Given the description of an element on the screen output the (x, y) to click on. 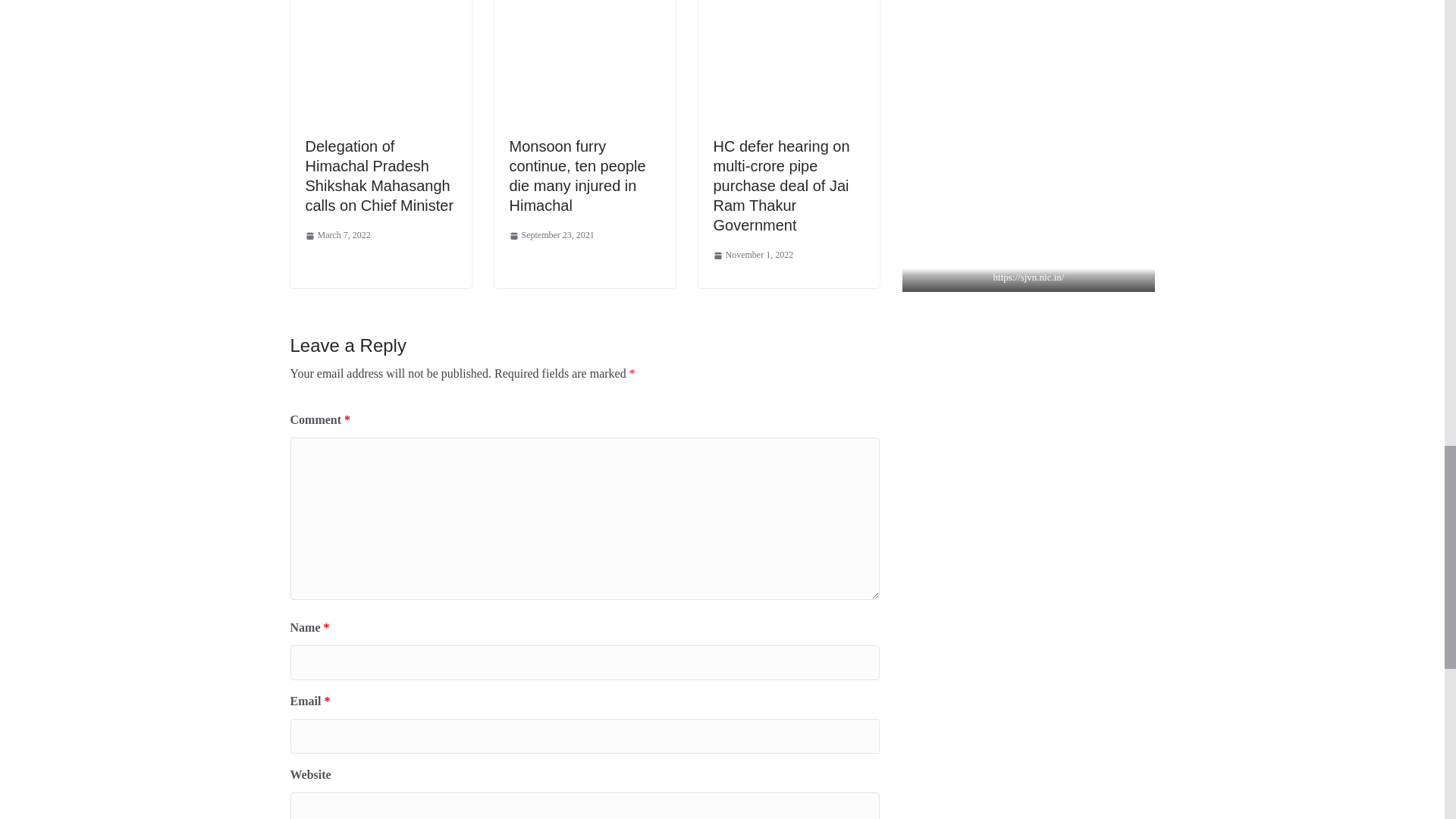
November 1, 2022 (753, 255)
March 7, 2022 (336, 235)
September 23, 2021 (551, 235)
